Given the description of an element on the screen output the (x, y) to click on. 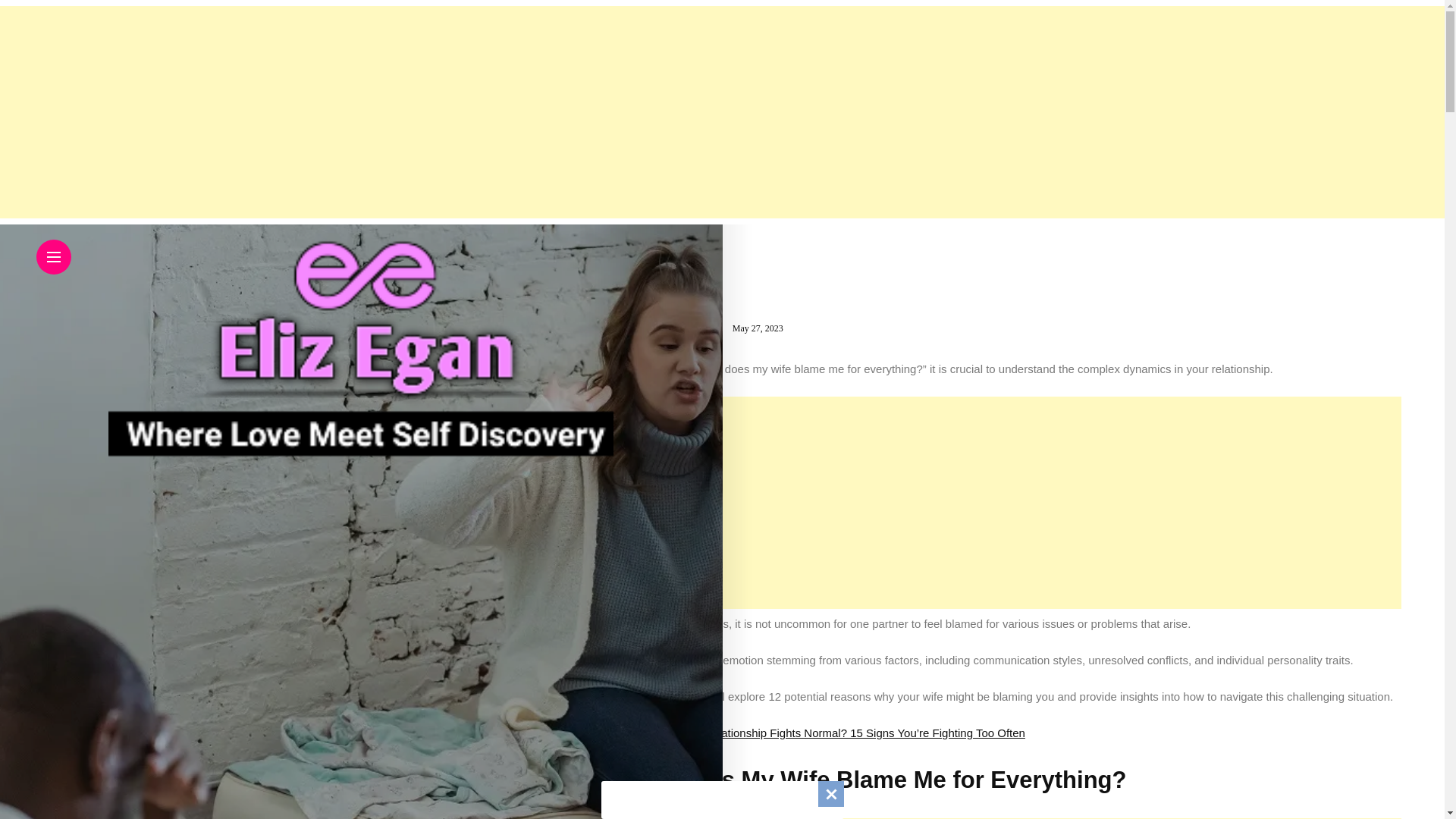
Johnniepen (689, 327)
Posts by Johnniepen (689, 327)
RELATIONSHIP (665, 302)
